Given the description of an element on the screen output the (x, y) to click on. 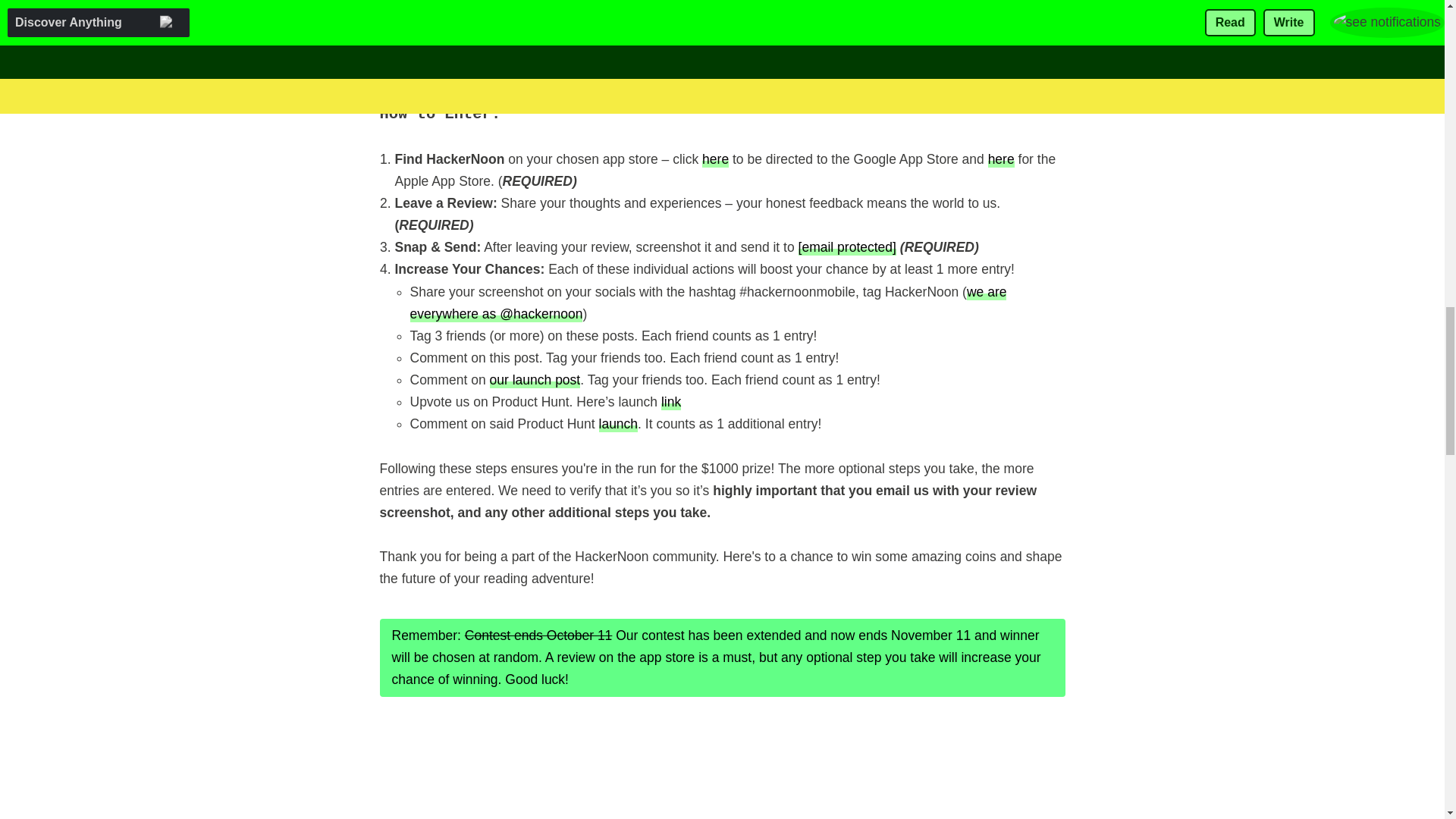
our launch post (534, 379)
here (1001, 158)
launch (618, 423)
link (671, 401)
here (715, 158)
